Given the description of an element on the screen output the (x, y) to click on. 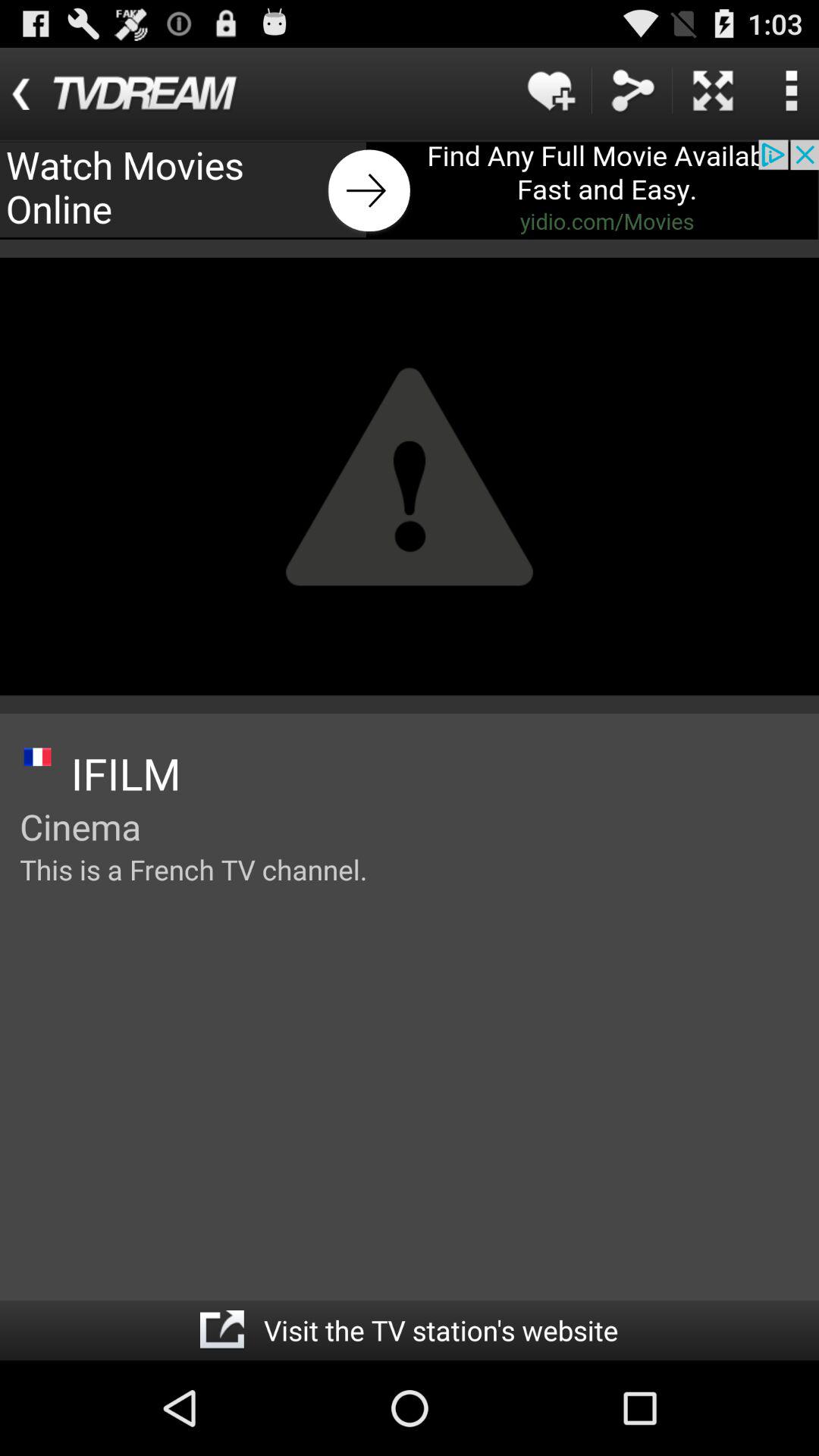
more (712, 90)
